Given the description of an element on the screen output the (x, y) to click on. 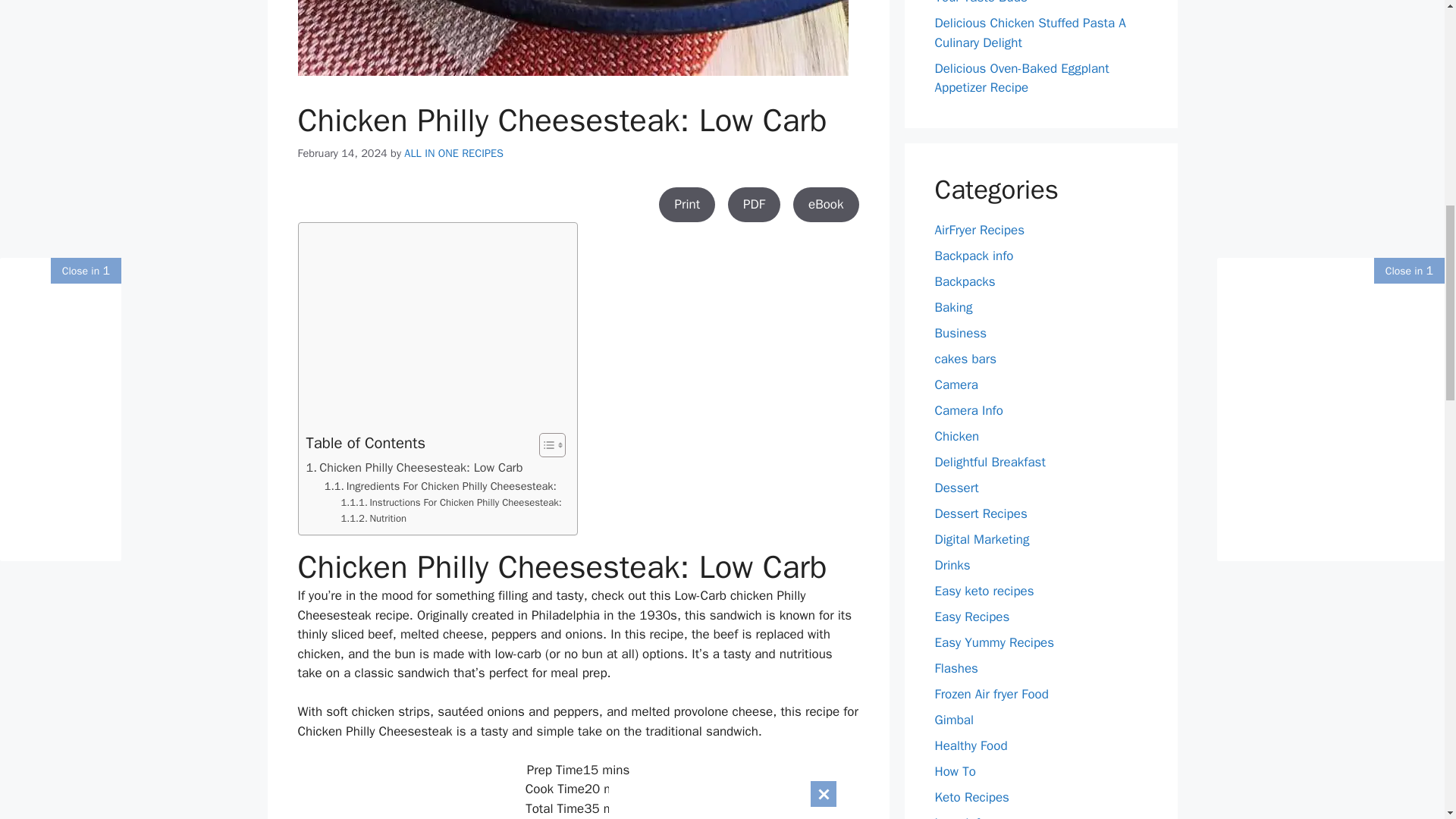
Ingredients For Chicken Philly Cheesesteak: (440, 486)
PDF (754, 204)
Chicken Philly Cheesesteak: Low Carb (413, 467)
Instructions For Chicken Philly Cheesesteak: (451, 503)
View all posts by ALL IN ONE RECIPES (453, 152)
Instructions For Chicken Philly Cheesesteak: (451, 503)
Print (686, 204)
eBook (826, 204)
Chicken Philly Cheesesteak: Low Carb (413, 467)
Nutrition (373, 519)
Ingredients For Chicken Philly Cheesesteak: (440, 486)
Nutrition (373, 519)
ALL IN ONE RECIPES (453, 152)
